Given the description of an element on the screen output the (x, y) to click on. 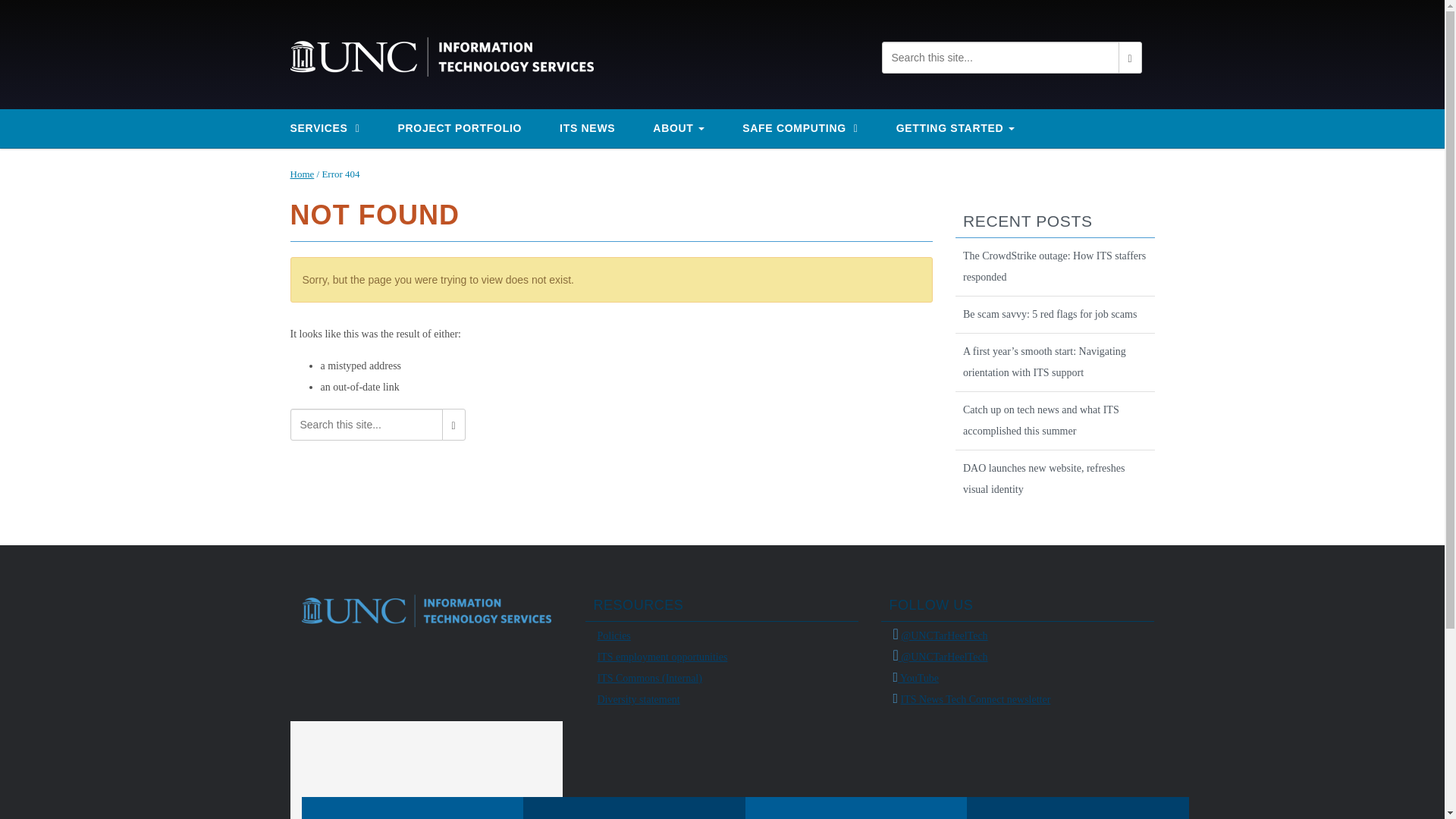
YouTube (918, 677)
GETTING STARTED (963, 127)
Information Technology Services (440, 53)
SERVICES (333, 128)
The CrowdStrike outage: How ITS staffers responded (1054, 267)
ITS employment opportunities (661, 656)
Diversity statement (637, 699)
ABOUT (686, 127)
ITS NEWS (595, 127)
Home (301, 173)
